Given the description of an element on the screen output the (x, y) to click on. 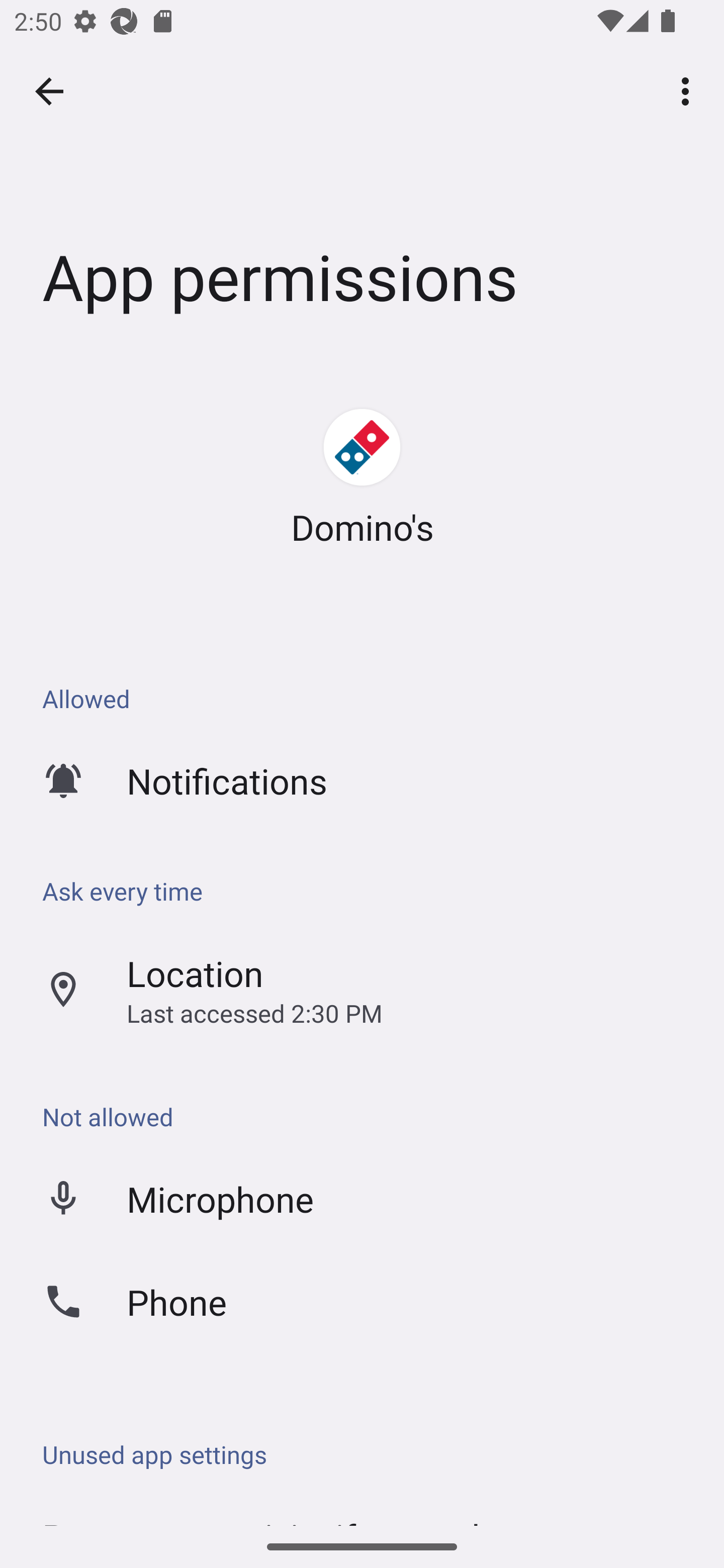
Back (49, 91)
More options (688, 90)
Notifications (362, 780)
Location Last accessed 2:30 PM (362, 989)
Microphone (362, 1198)
Phone (362, 1301)
